Given the description of an element on the screen output the (x, y) to click on. 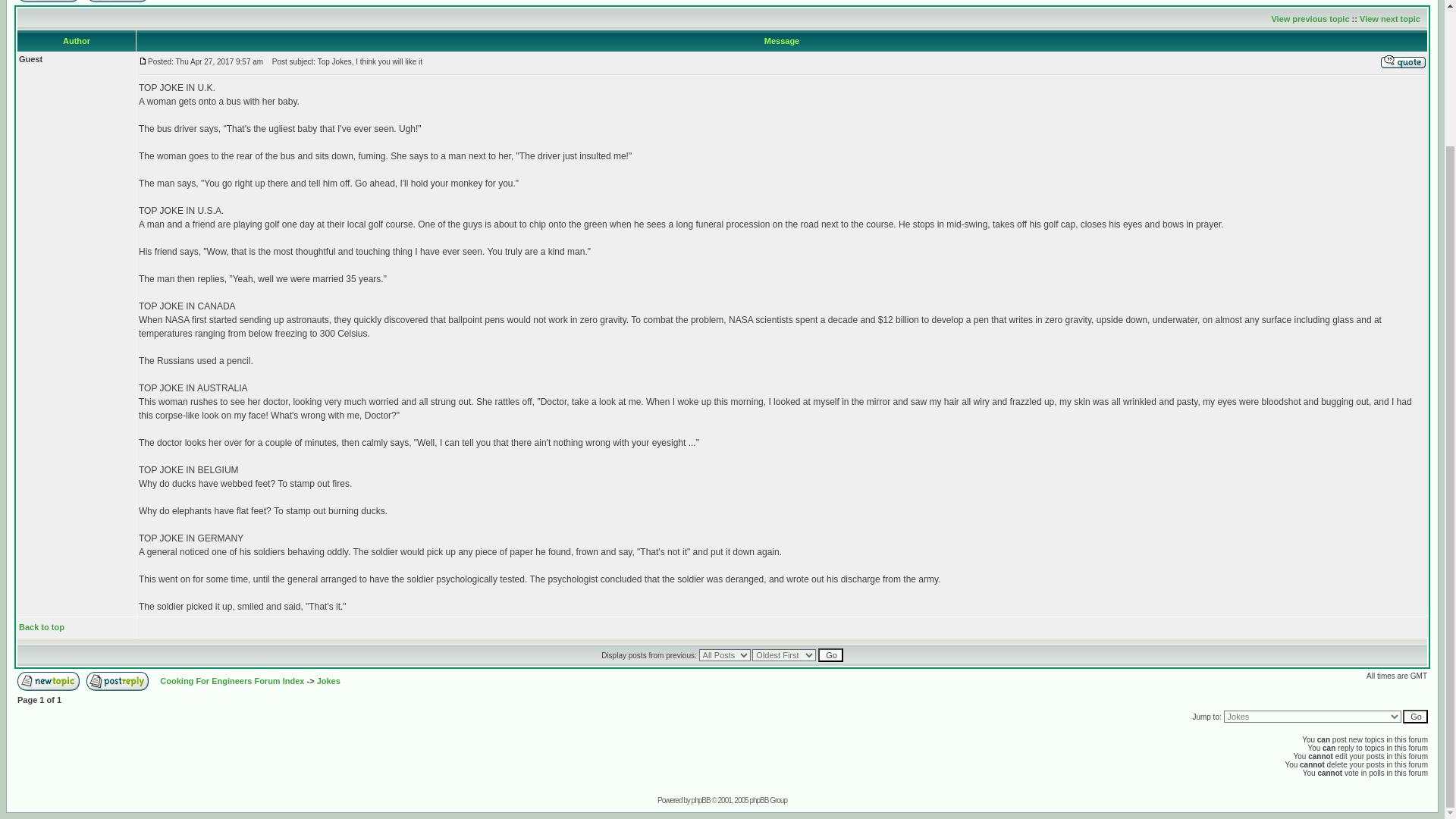
Jokes (328, 680)
View previous topic (1310, 18)
Go (1415, 716)
View next topic (1390, 18)
Cooking For Engineers Forum Index (232, 680)
Back to top (41, 626)
Go (830, 654)
Go (830, 654)
phpBB (700, 800)
Go (1415, 716)
